Given the description of an element on the screen output the (x, y) to click on. 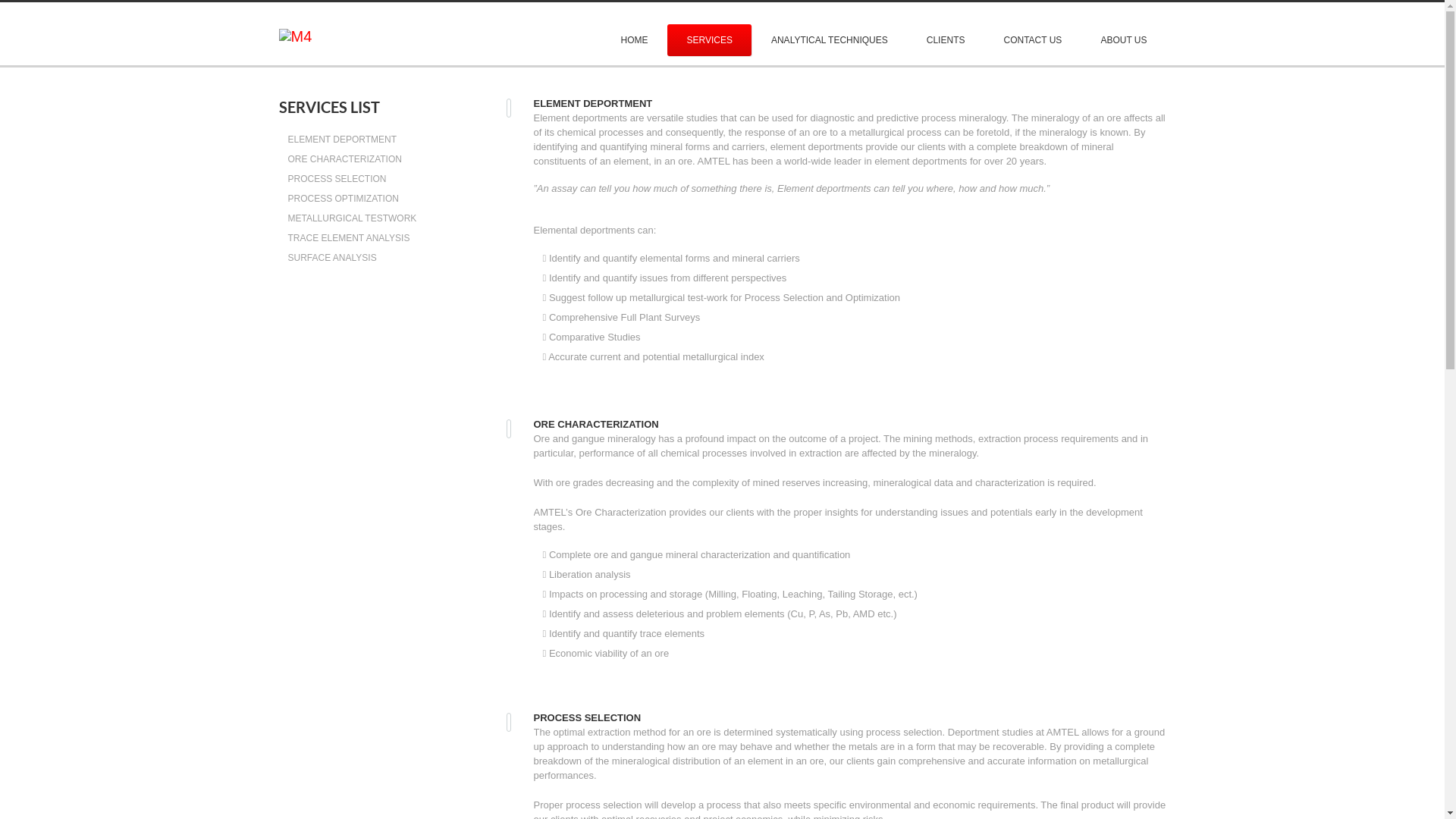
ABOUT US Element type: text (1123, 40)
CLIENTS Element type: text (945, 40)
ELEMENT DEPORTMENT Element type: text (342, 139)
ANALYTICAL TECHNIQUES Element type: text (829, 40)
TRACE ELEMENT ANALYSIS Element type: text (349, 237)
SERVICES Element type: text (708, 40)
CONTACT US Element type: text (1032, 40)
SURFACE ANALYSIS Element type: text (332, 257)
METALLURGICAL TESTWORK Element type: text (352, 218)
PROCESS OPTIMIZATION Element type: text (343, 198)
ORE CHARACTERIZATION Element type: text (344, 158)
PROCESS SELECTION Element type: text (337, 178)
HOME Element type: text (633, 40)
